Given the description of an element on the screen output the (x, y) to click on. 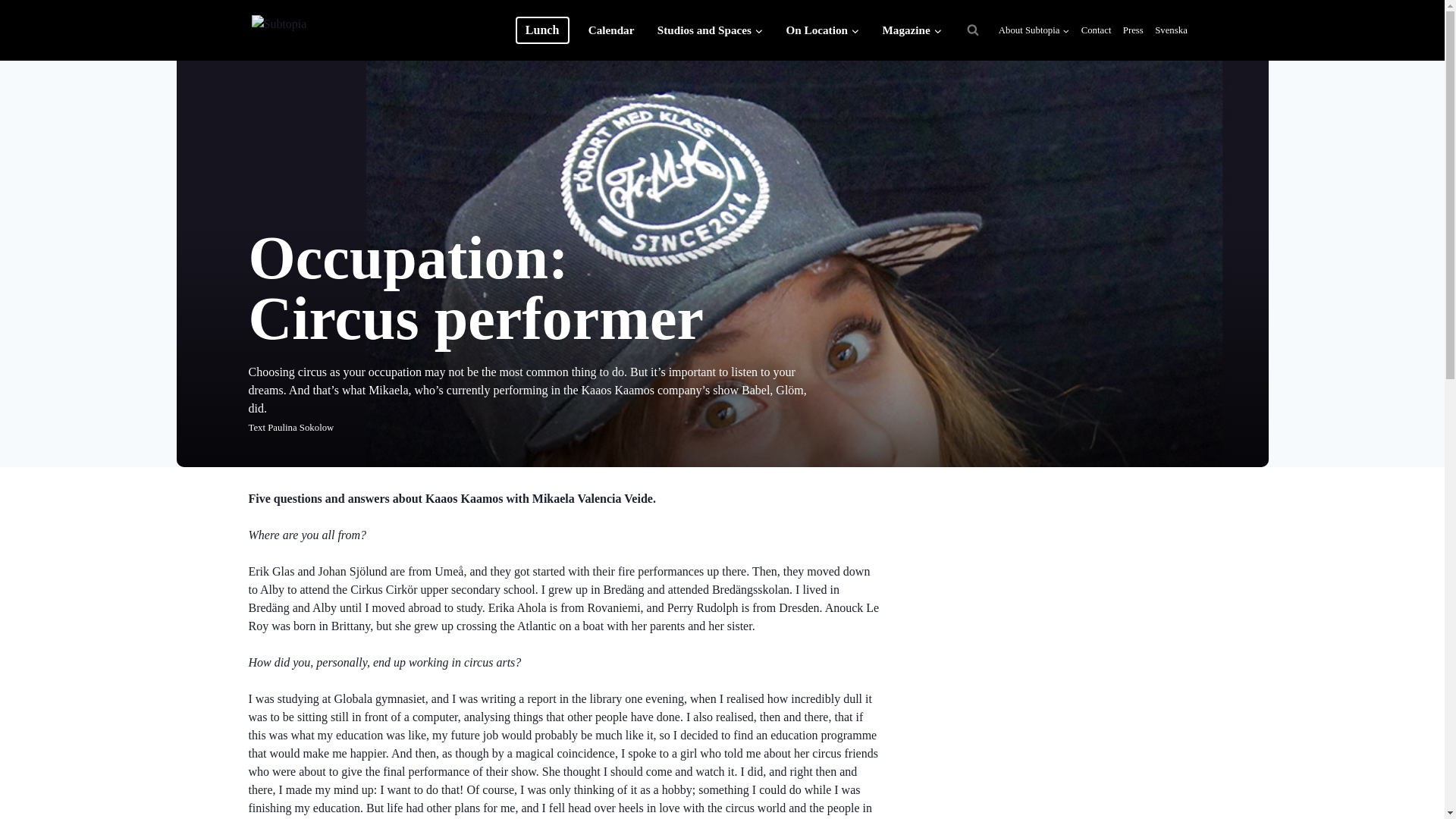
Calendar (611, 30)
Lunch (542, 30)
Studios and Spaces (710, 30)
Magazine (911, 30)
On Location (822, 30)
